Given the description of an element on the screen output the (x, y) to click on. 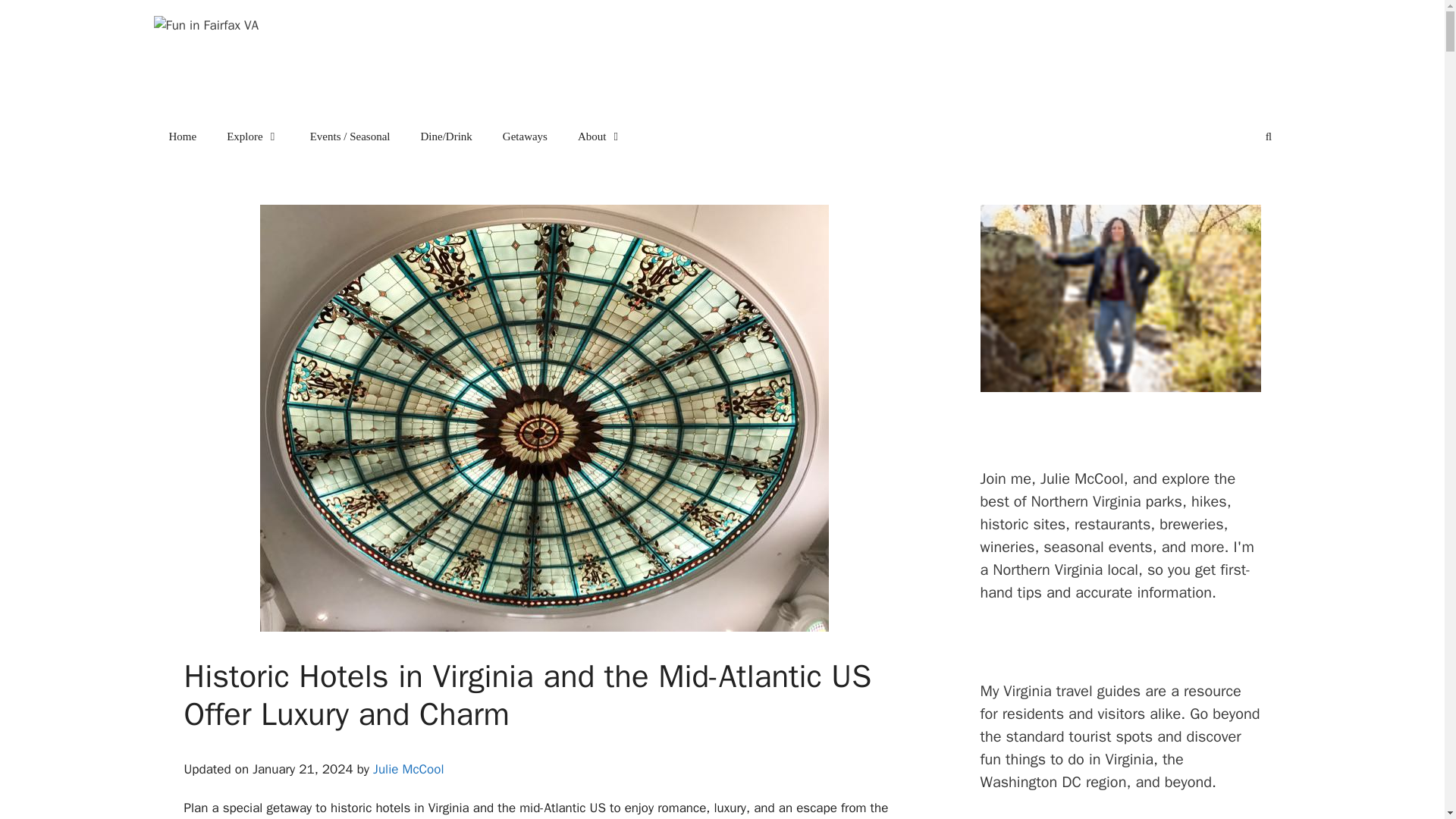
About (600, 135)
Getaways (524, 135)
Explore (252, 135)
Home (181, 135)
Julie McCool (408, 769)
